Given the description of an element on the screen output the (x, y) to click on. 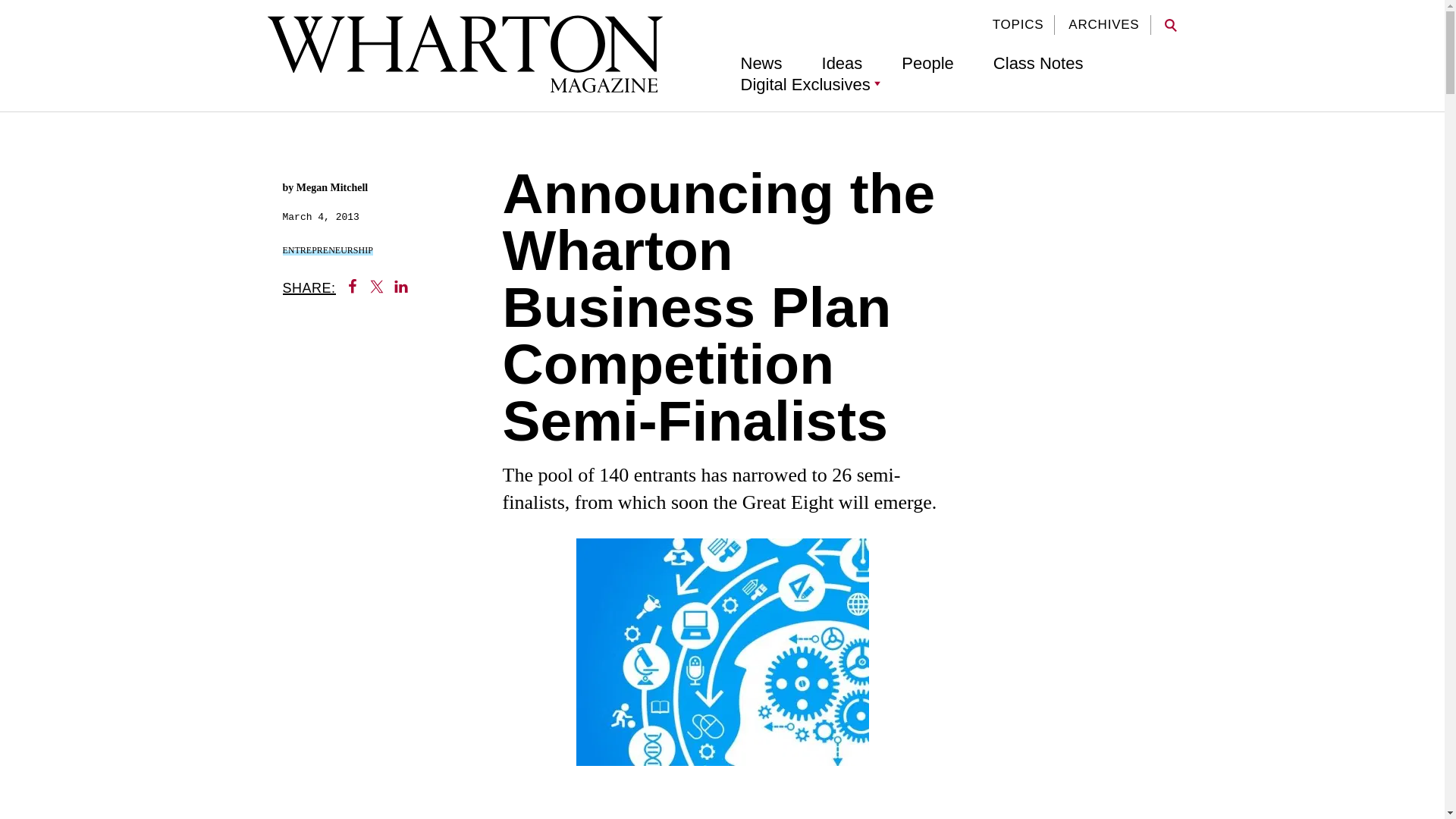
Share on Twitter (376, 286)
TOPICS (1017, 24)
Class Notes (1037, 63)
Ideas (842, 63)
ARCHIVES (1103, 24)
People (927, 63)
Share on LinkedIn (401, 286)
News (760, 63)
Share on Facebook (352, 286)
